Given the description of an element on the screen output the (x, y) to click on. 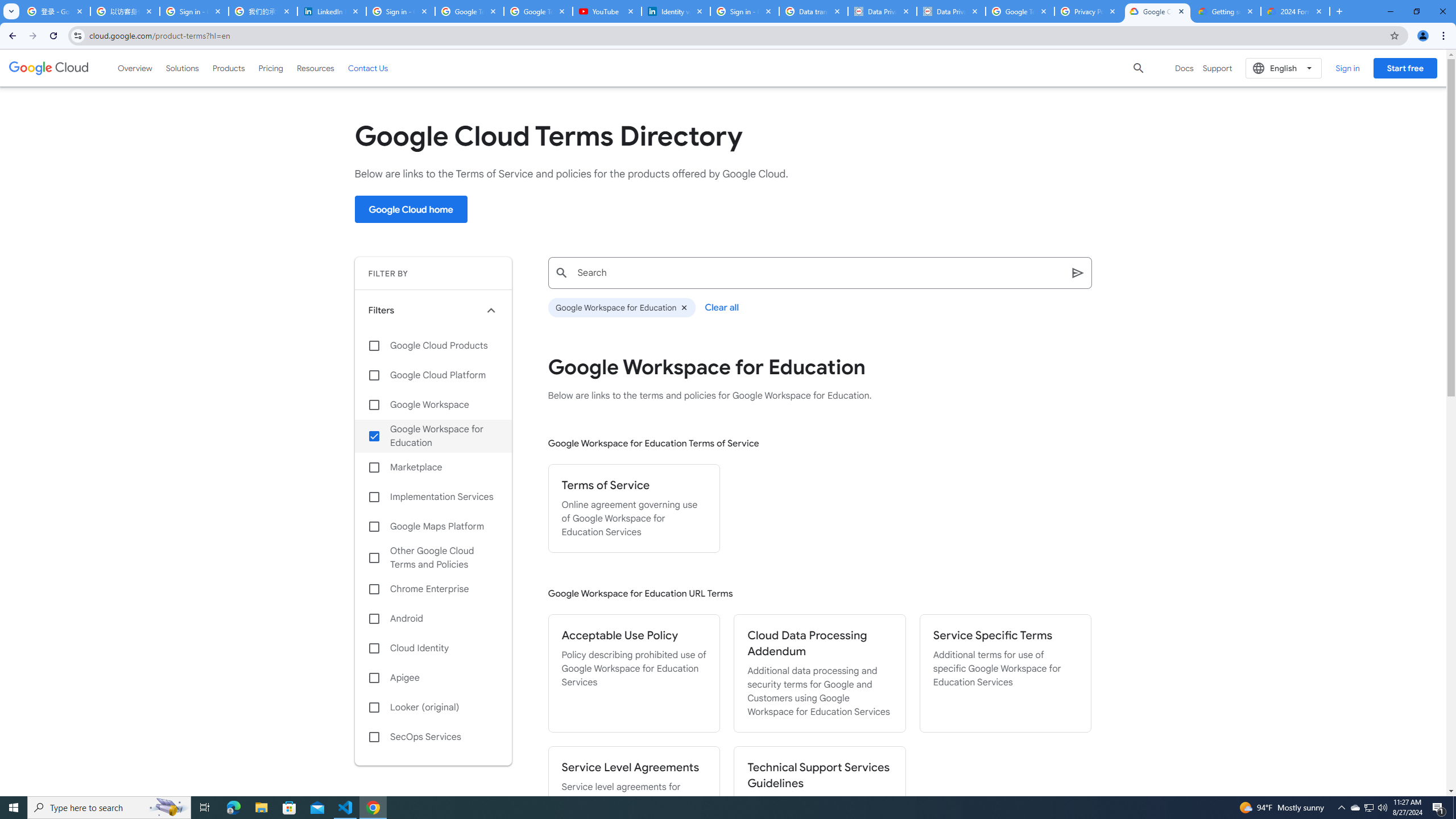
Sign in - Google Accounts (400, 11)
Data Privacy Framework (882, 11)
Looker (original) (432, 707)
Implementation Services (432, 496)
Google Cloud (48, 67)
Cloud Identity (432, 648)
Start free (1405, 67)
Data Privacy Framework (950, 11)
